Given the description of an element on the screen output the (x, y) to click on. 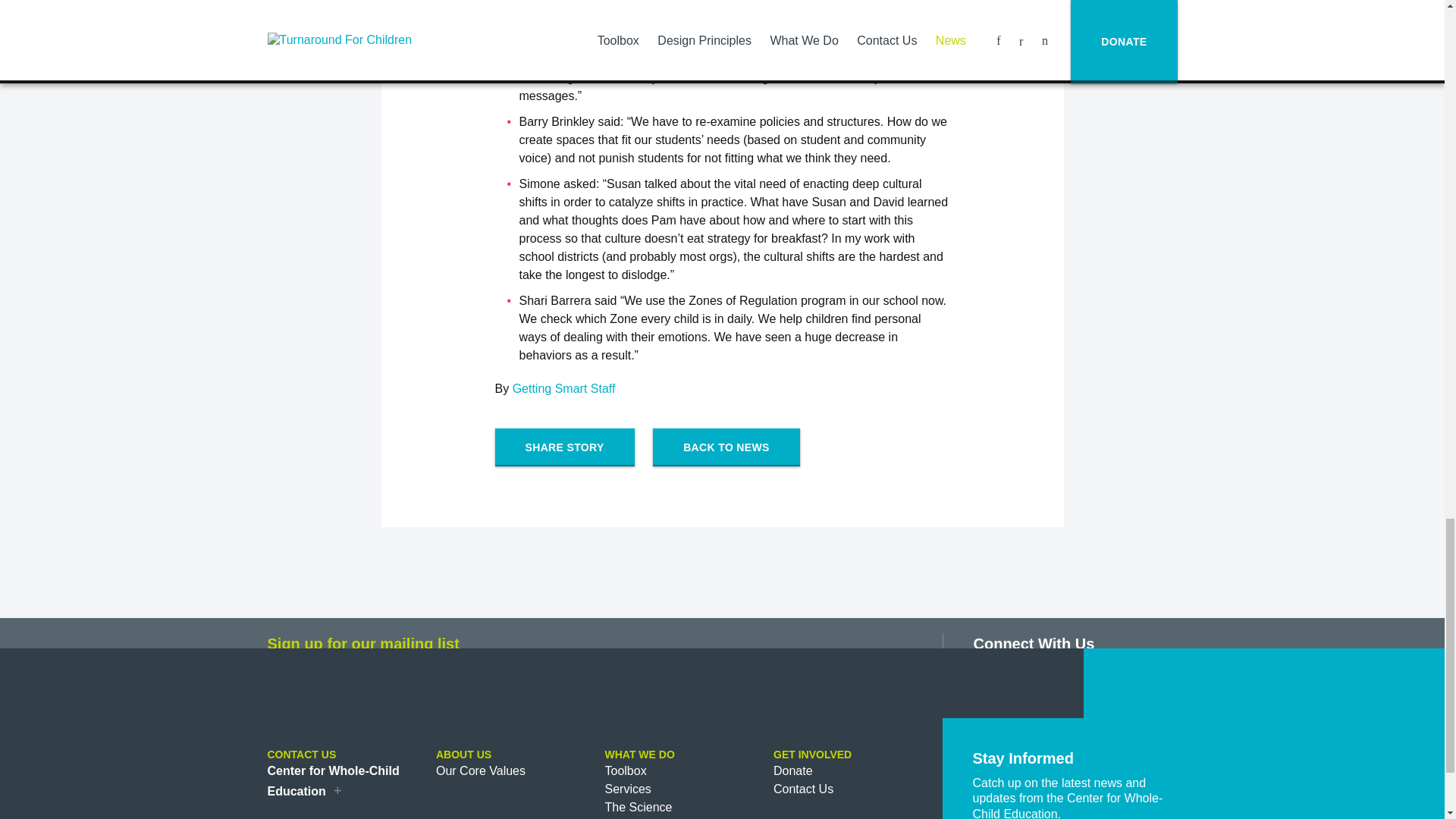
Posts by Getting Smart Staff (563, 388)
